Given the description of an element on the screen output the (x, y) to click on. 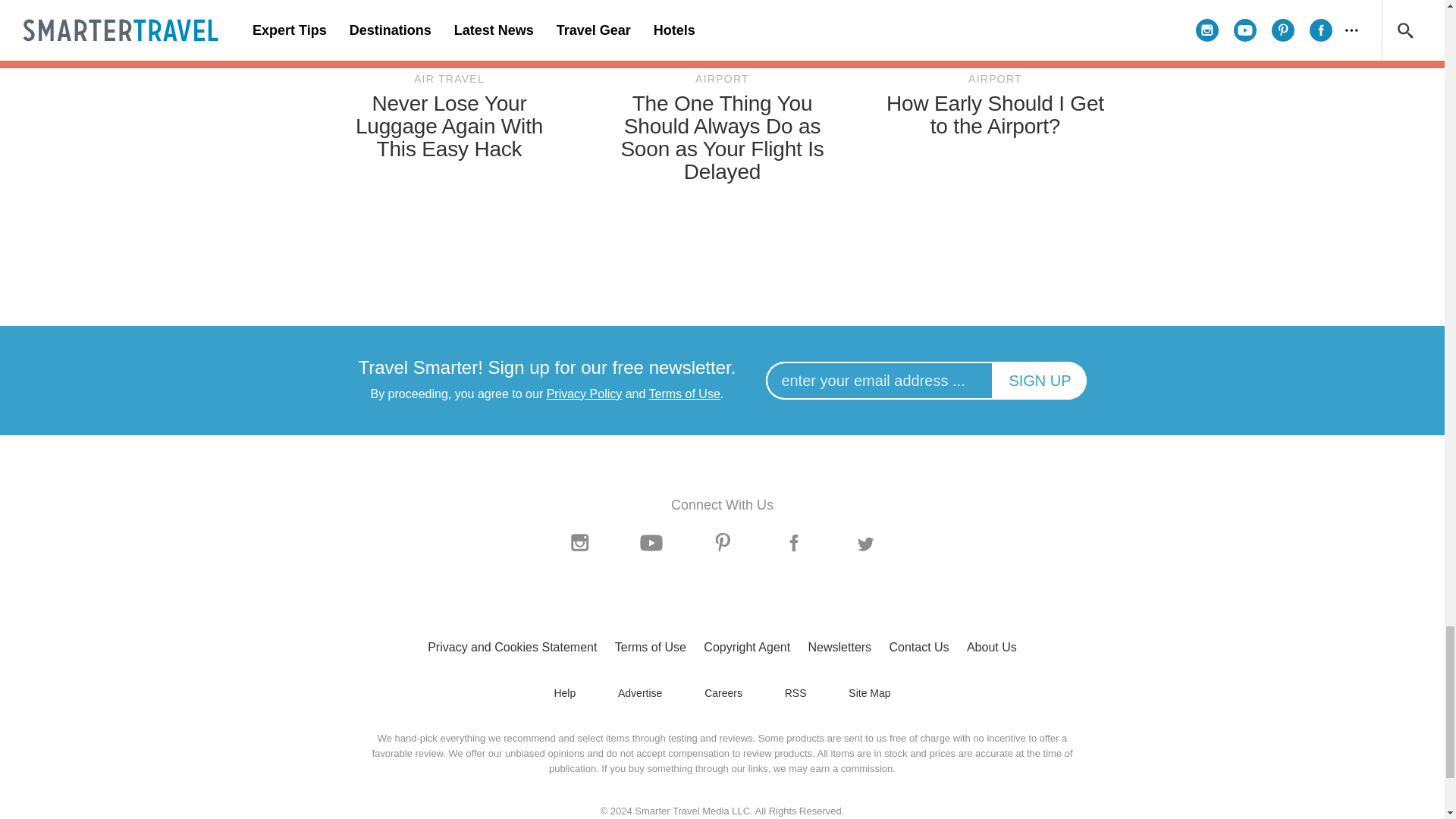
View all posts in Airport (721, 79)
View all posts in Airport (995, 79)
View all posts in Air Travel (448, 79)
